Given the description of an element on the screen output the (x, y) to click on. 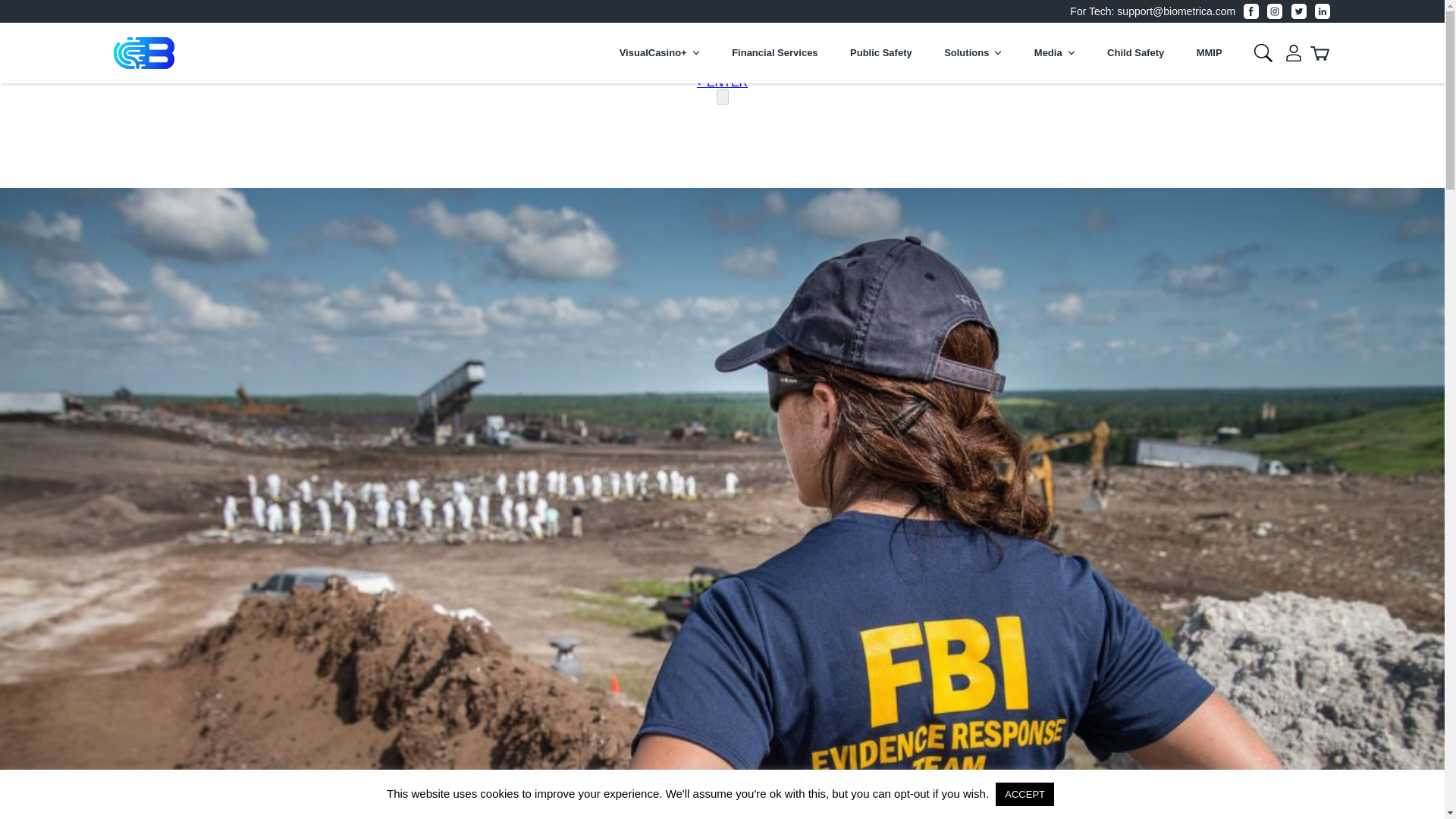
Financial Services (774, 63)
Media (1053, 63)
Public Safety (881, 63)
0 (143, 53)
Child Safety (1134, 63)
Solutions (971, 63)
0 (1293, 52)
